Given the description of an element on the screen output the (x, y) to click on. 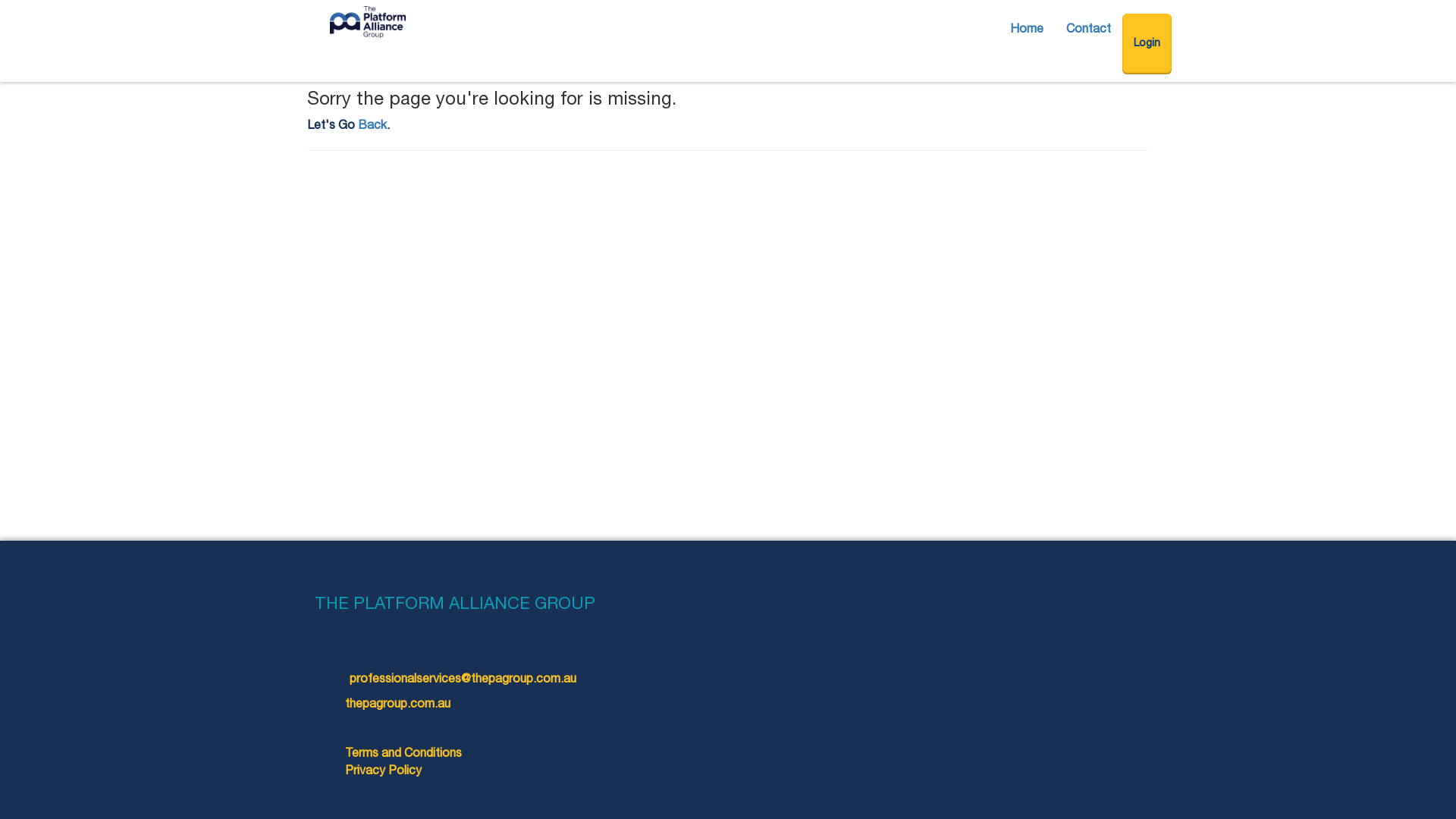
Terms and Conditions Element type: text (403, 754)
thepagroup.com.au Element type: text (397, 705)
Back Element type: text (371, 126)
Login Element type: text (1146, 43)
professionalservices@thepagroup.com.au Element type: text (462, 680)
Home Element type: text (1026, 30)
Contact Element type: text (1088, 30)
Privacy Policy Element type: text (383, 771)
